Given the description of an element on the screen output the (x, y) to click on. 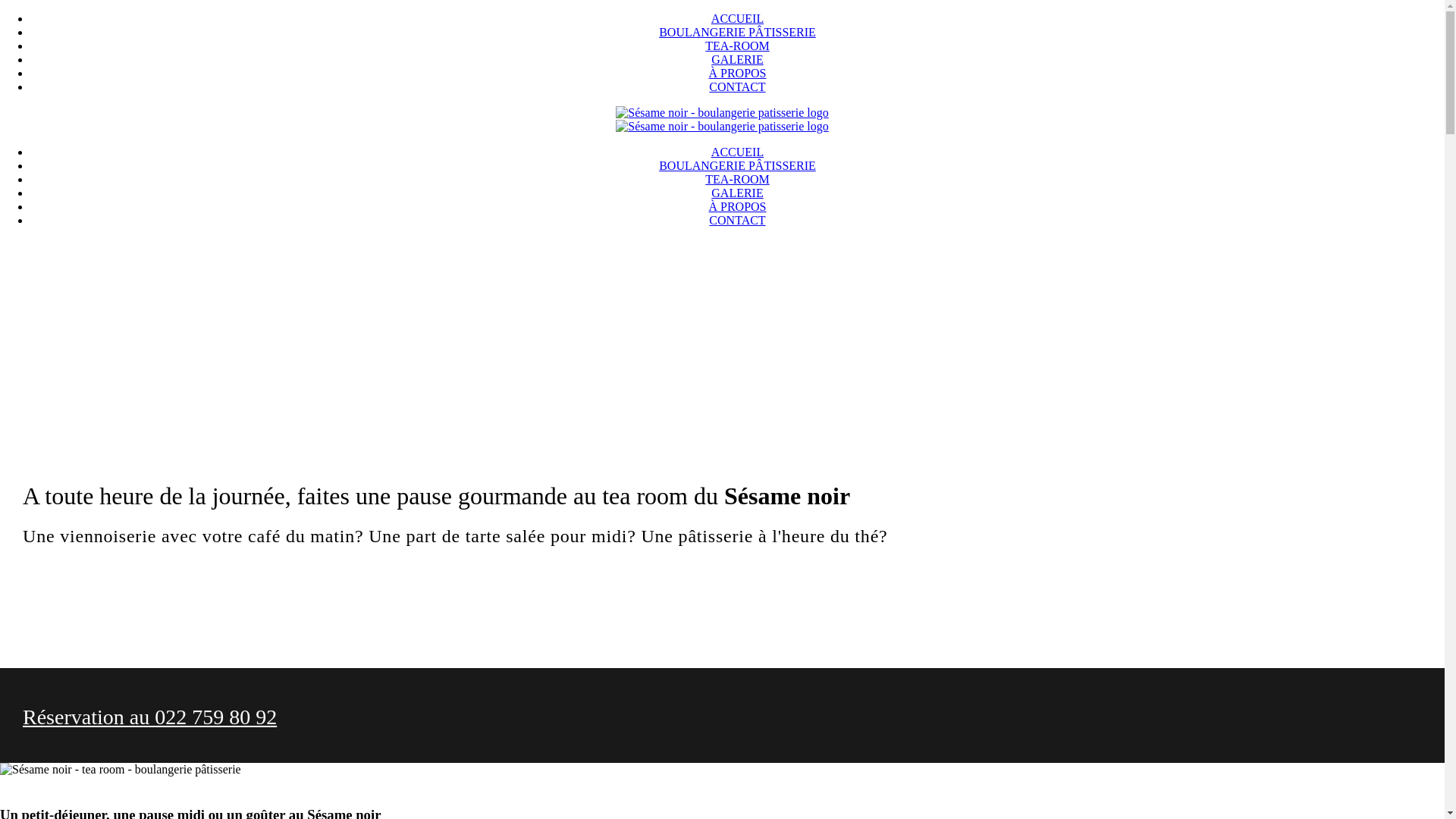
CONTACT Element type: text (737, 219)
TEA-ROOM Element type: text (736, 45)
ACCUEIL Element type: text (737, 18)
GALERIE Element type: text (736, 192)
ACCUEIL Element type: text (737, 151)
TEA-ROOM Element type: text (736, 178)
GALERIE Element type: text (736, 59)
CONTACT Element type: text (737, 86)
